Given the description of an element on the screen output the (x, y) to click on. 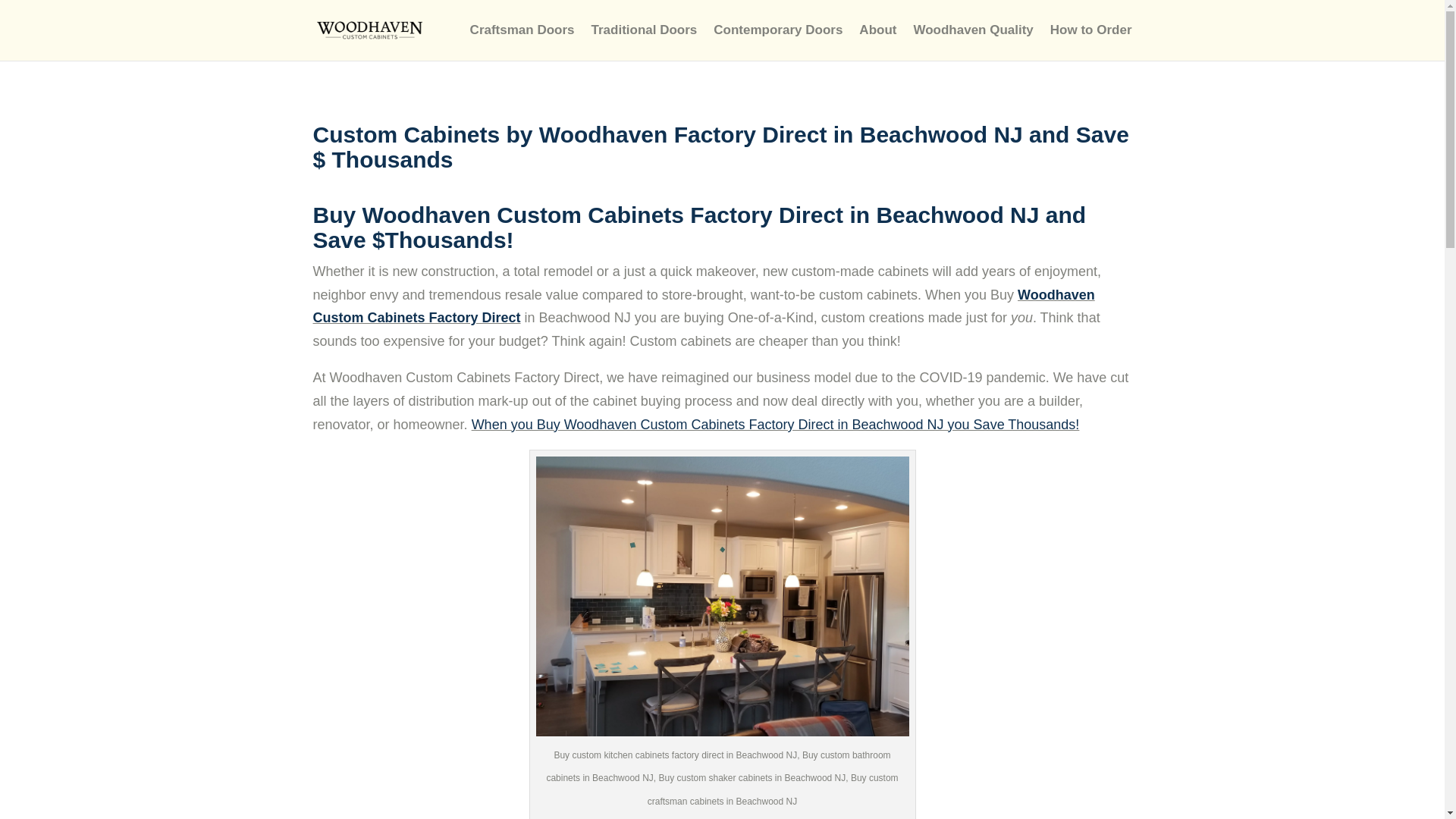
Contemporary Doors (778, 42)
About (877, 42)
Woodhaven Quality (972, 42)
Woodhaven Custom Cabinets Factory Direct (703, 306)
Craftsman Doors (522, 42)
How to Order (1090, 42)
Traditional Doors (644, 42)
